Given the description of an element on the screen output the (x, y) to click on. 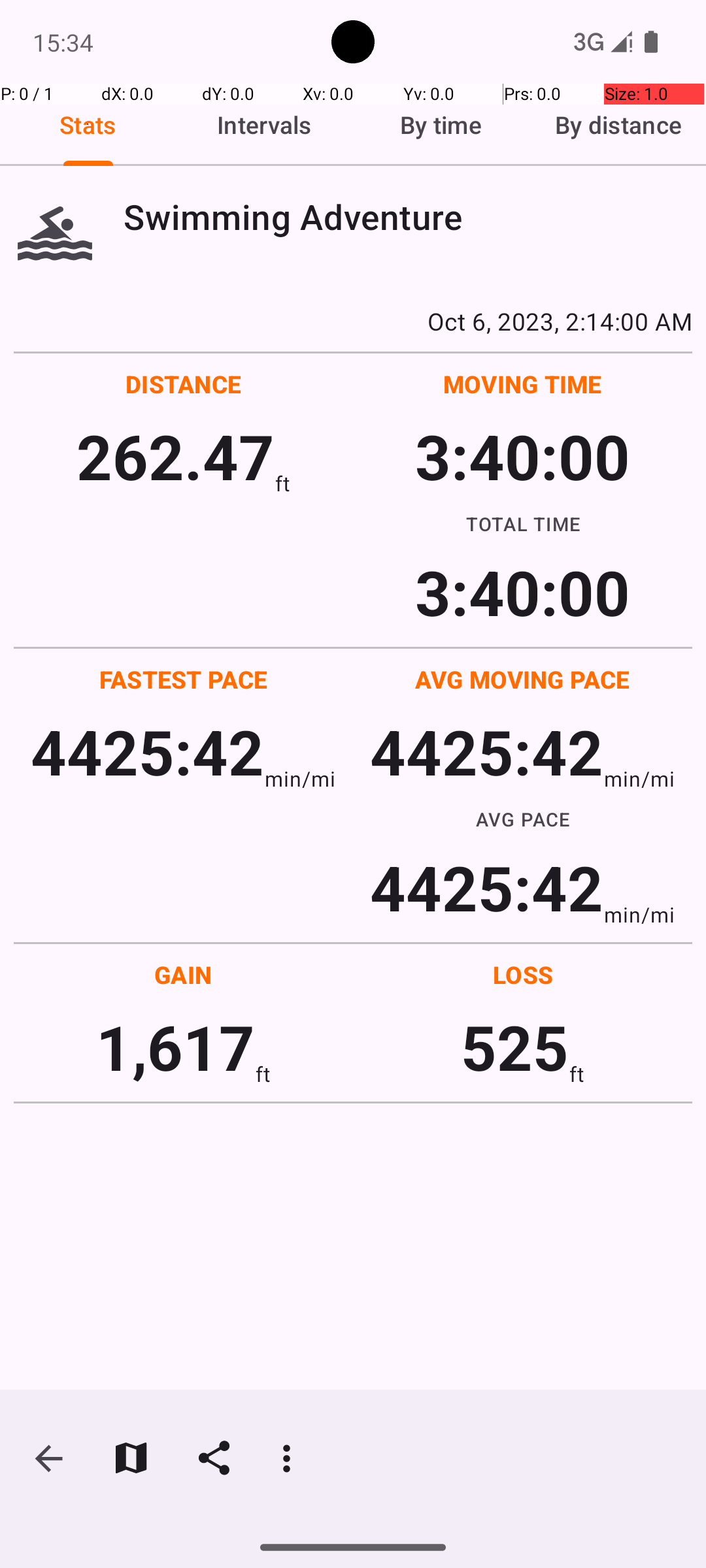
Swimming Adventure Element type: android.widget.TextView (407, 216)
Oct 6, 2023, 2:14:00 AM Element type: android.widget.TextView (352, 320)
262.47 Element type: android.widget.TextView (175, 455)
3:40:00 Element type: android.widget.TextView (522, 455)
4425:42 Element type: android.widget.TextView (147, 750)
1,617 Element type: android.widget.TextView (175, 1045)
525 Element type: android.widget.TextView (514, 1045)
